Given the description of an element on the screen output the (x, y) to click on. 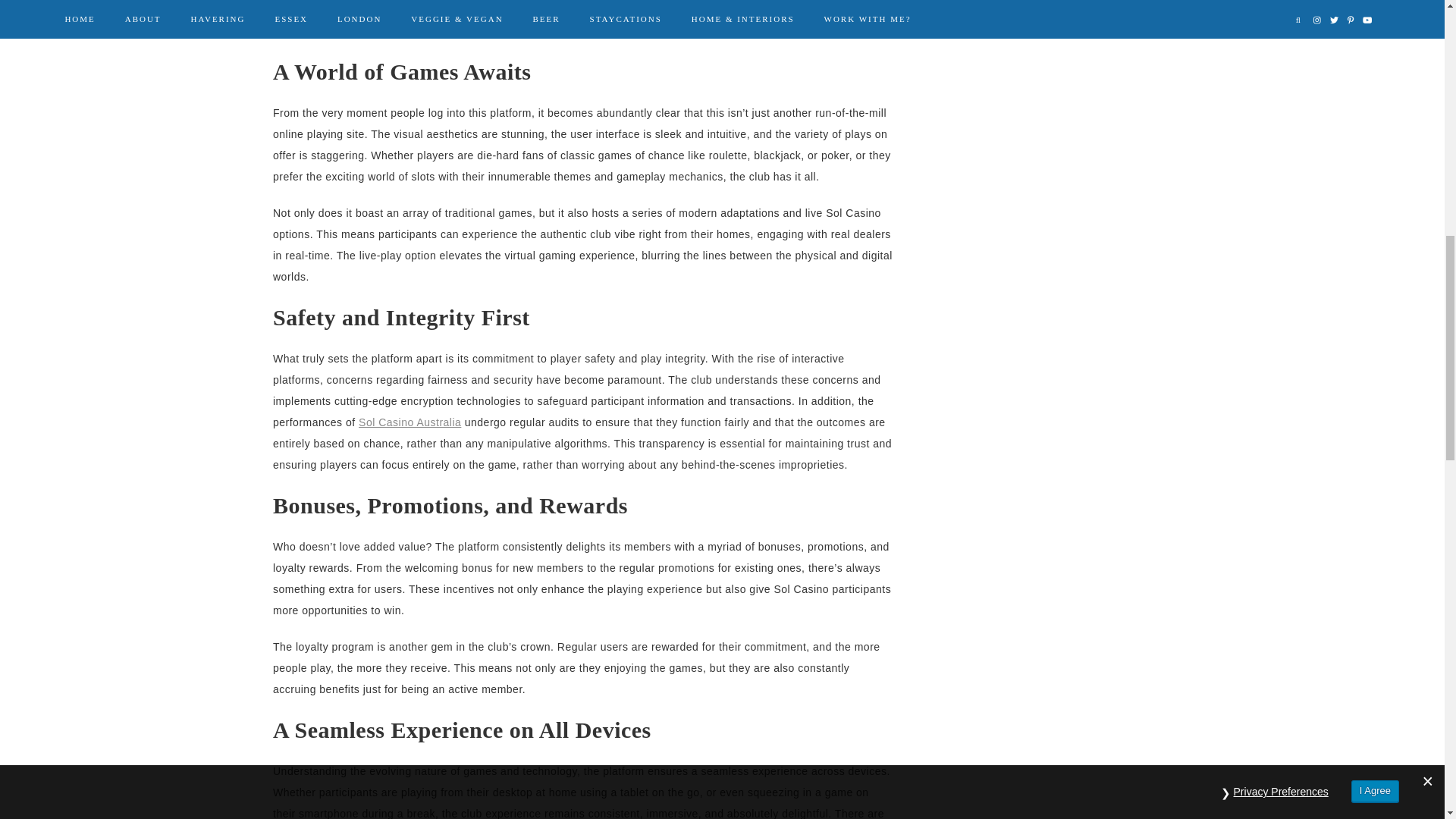
Sol Casino Australia (409, 422)
